Given the description of an element on the screen output the (x, y) to click on. 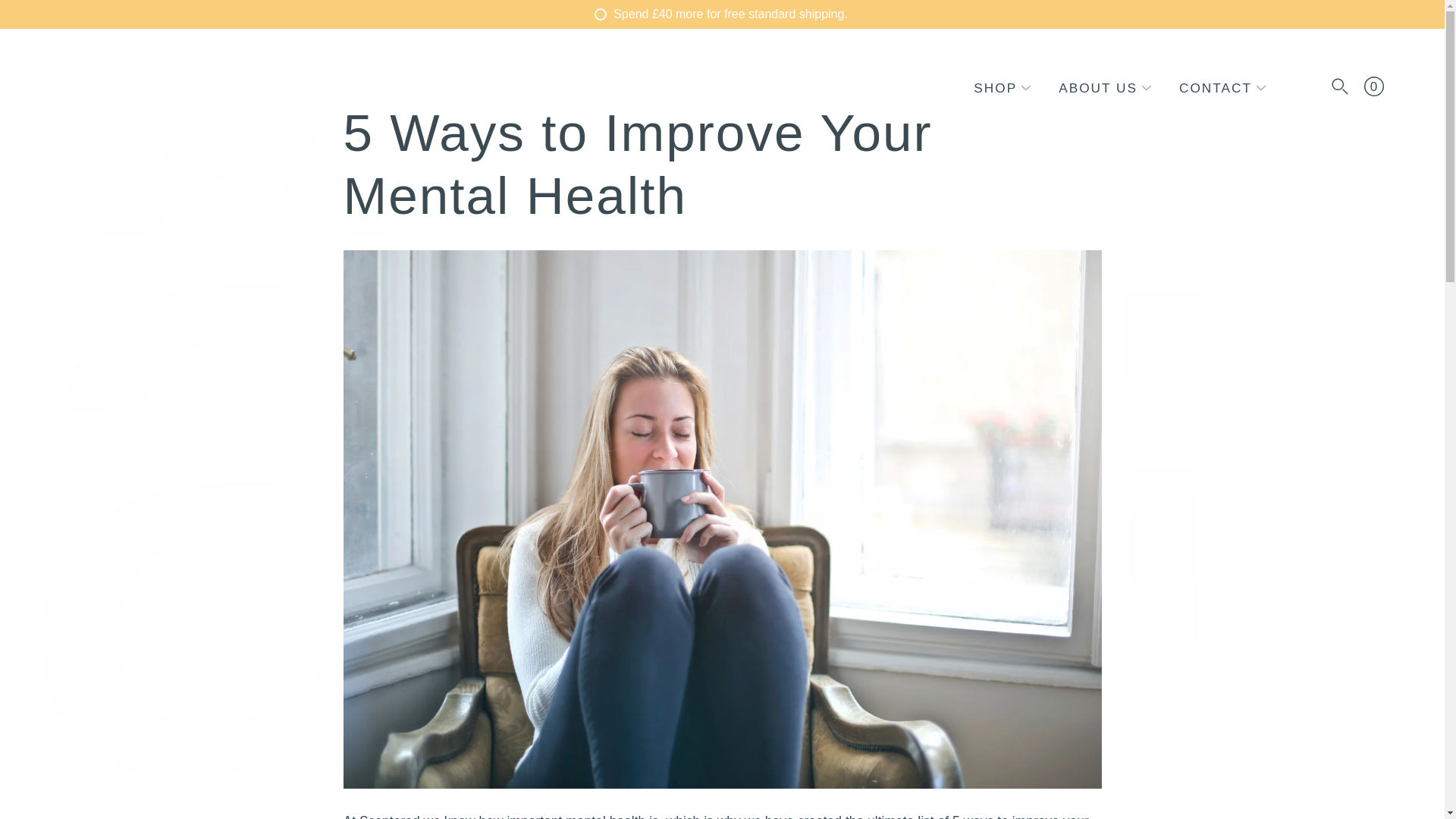
ABOUT US (1097, 87)
CONTACT (1215, 87)
SHOP (995, 87)
